Given the description of an element on the screen output the (x, y) to click on. 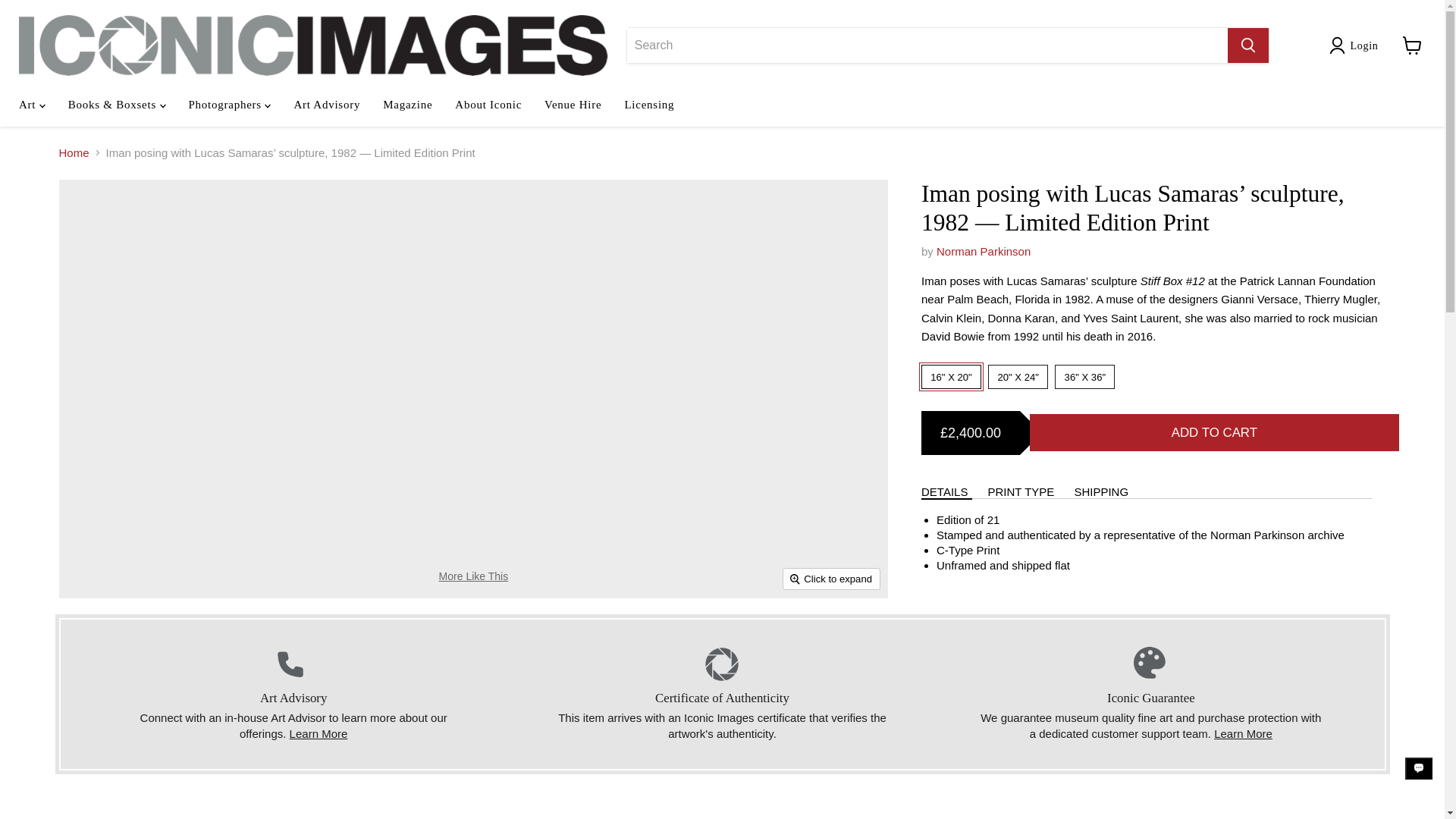
Art Advisory (318, 733)
Login (1363, 45)
View cart (1411, 45)
Iconic Guarantee (1243, 733)
